Given the description of an element on the screen output the (x, y) to click on. 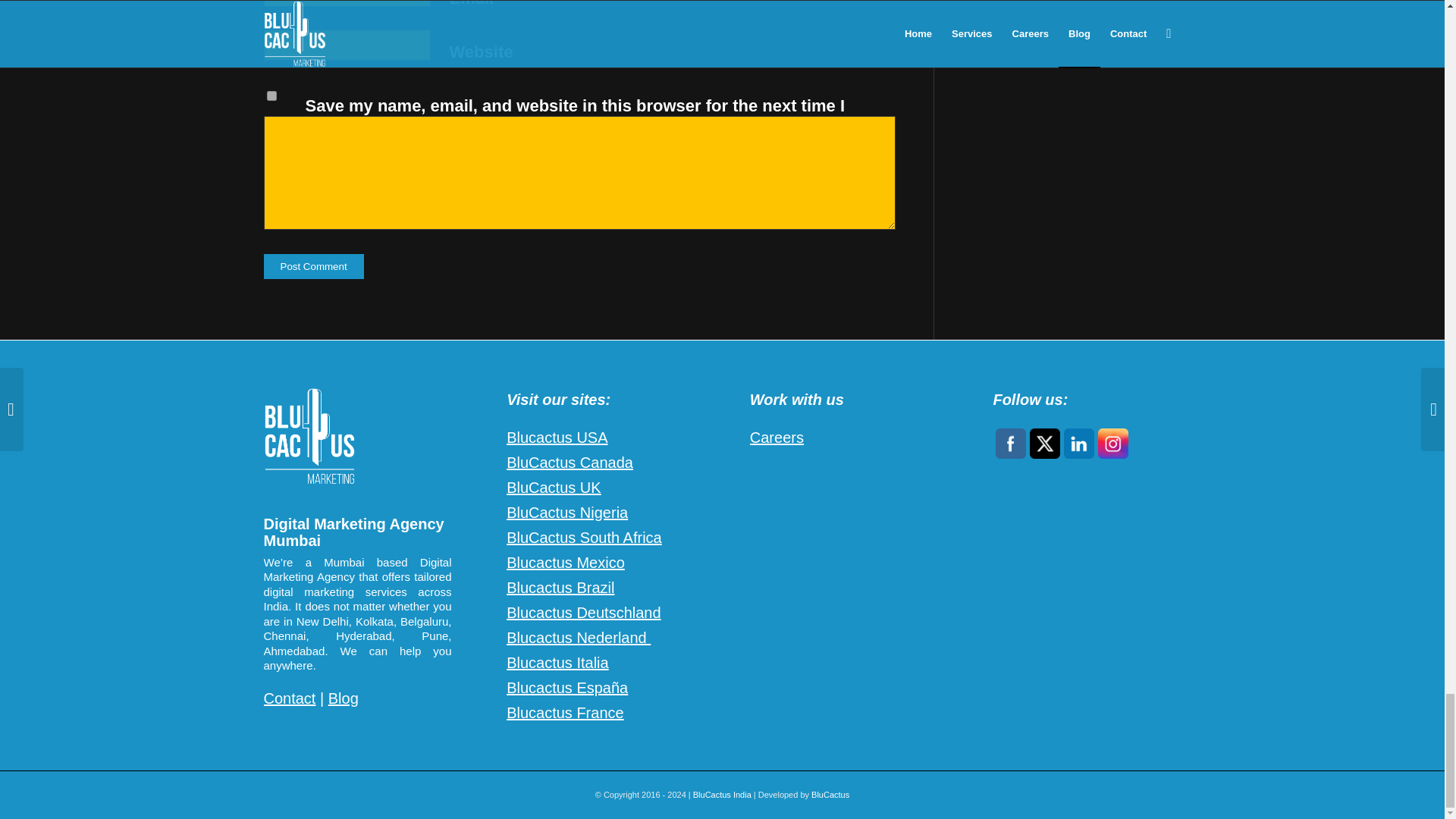
yes (271, 95)
Post Comment (313, 266)
